Given the description of an element on the screen output the (x, y) to click on. 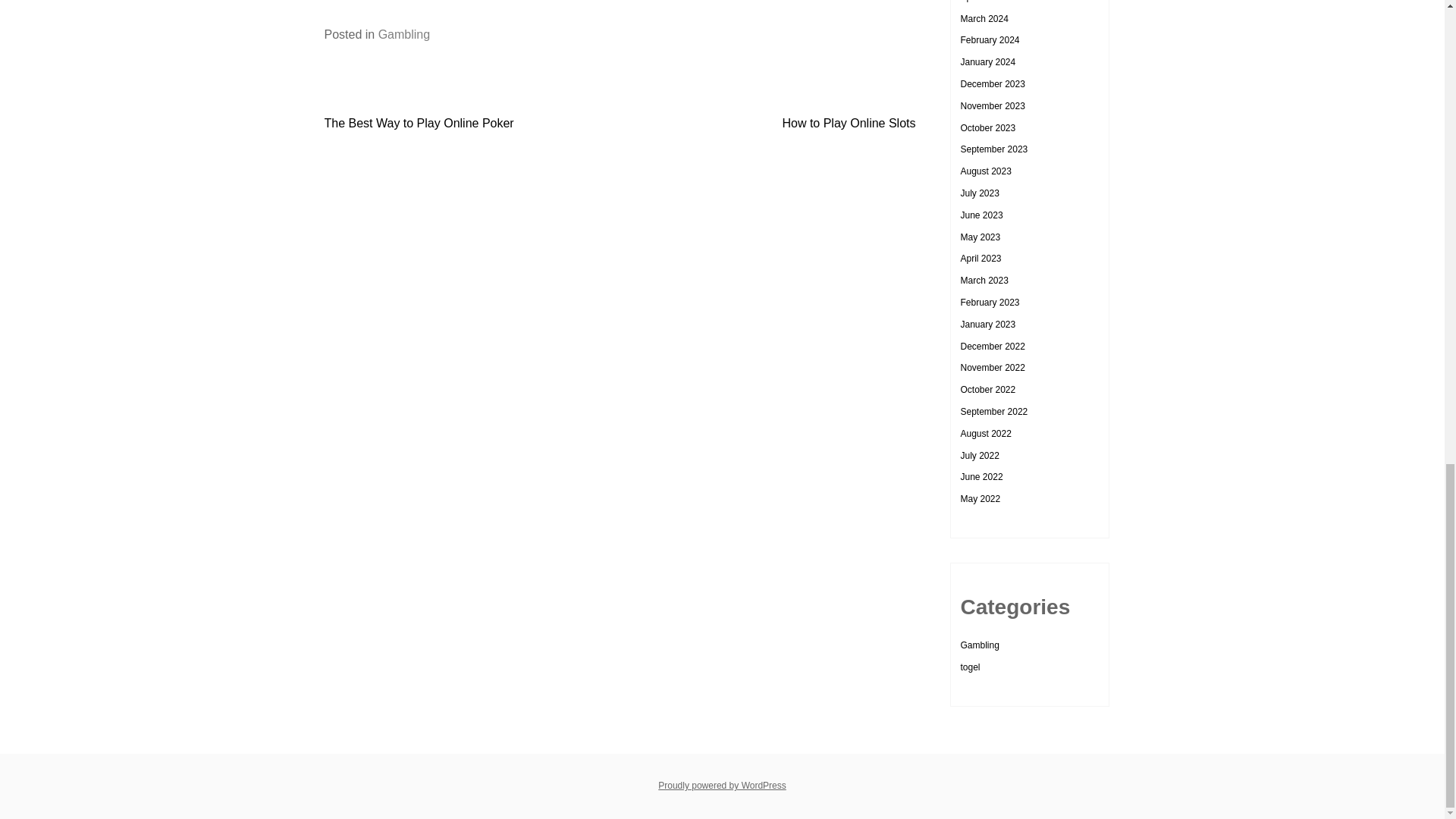
The Best Way to Play Online Poker (418, 123)
December 2022 (992, 346)
January 2023 (986, 324)
February 2024 (989, 40)
How to Play Online Slots (848, 123)
March 2023 (983, 280)
March 2024 (983, 18)
December 2023 (992, 83)
September 2023 (993, 149)
August 2023 (984, 171)
